Given the description of an element on the screen output the (x, y) to click on. 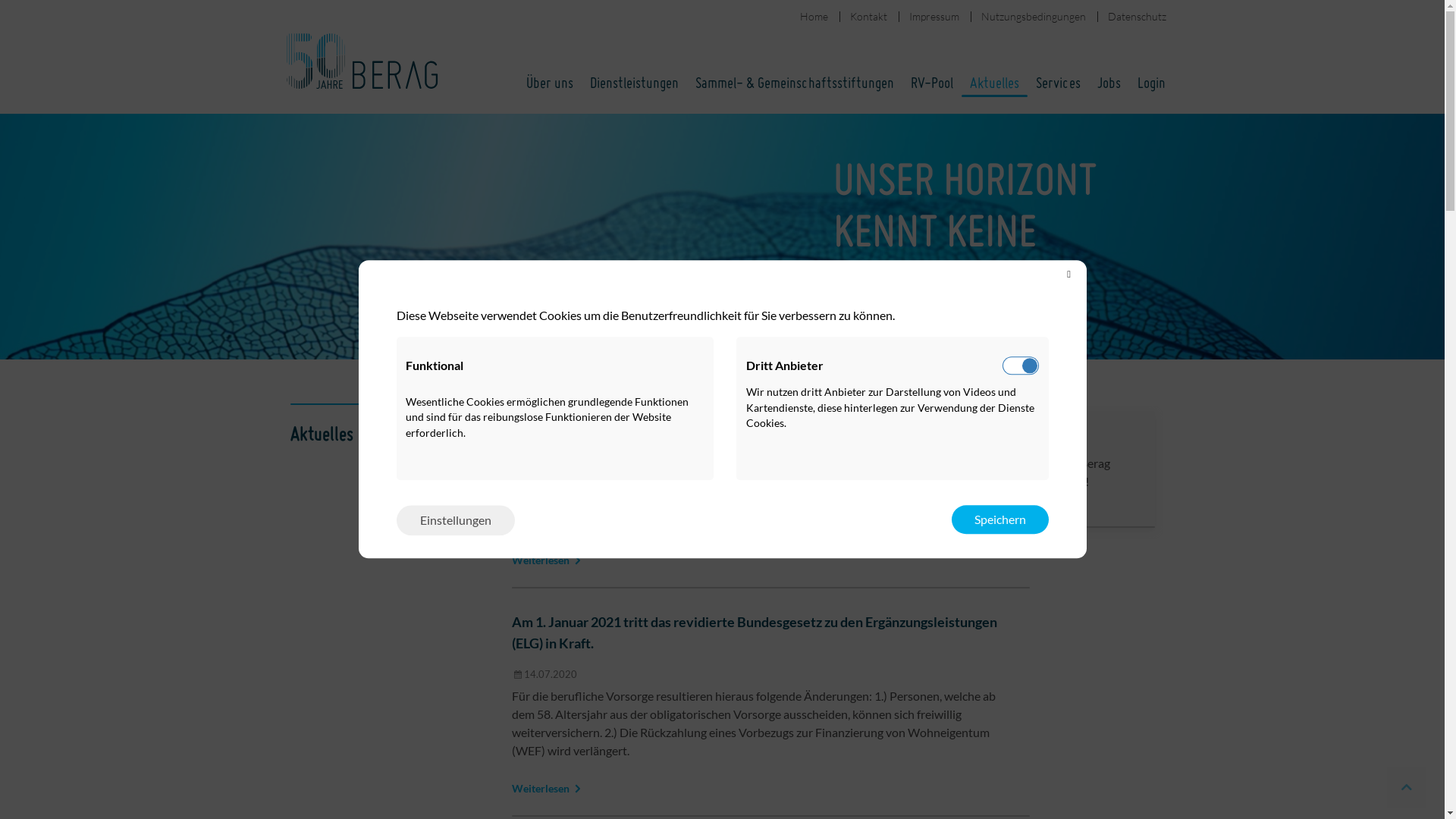
Datenschutz Element type: text (1136, 15)
Aktuelles Element type: text (994, 83)
Jobs Element type: text (1108, 83)
Services Element type: text (1057, 83)
Einstellungen Element type: text (454, 520)
RV-Pool Element type: text (931, 83)
Impressum Element type: text (933, 15)
Jobs
Bei der Berag arbeiten!
Jobs Element type: text (1091, 469)
Weiterlesen Element type: text (540, 787)
Weiterlesen Element type: text (540, 559)
Speichern Element type: text (999, 519)
Home Element type: text (813, 15)
Dienstleistungen Element type: text (633, 83)
Login Element type: text (1150, 83)
Logo Element type: hover (367, 56)
Nutzungsbedingungen Element type: text (1033, 15)
Sammel- & Gemeinschaftsstiftungen Element type: text (794, 83)
Kontakt Element type: text (867, 15)
